Given the description of an element on the screen output the (x, y) to click on. 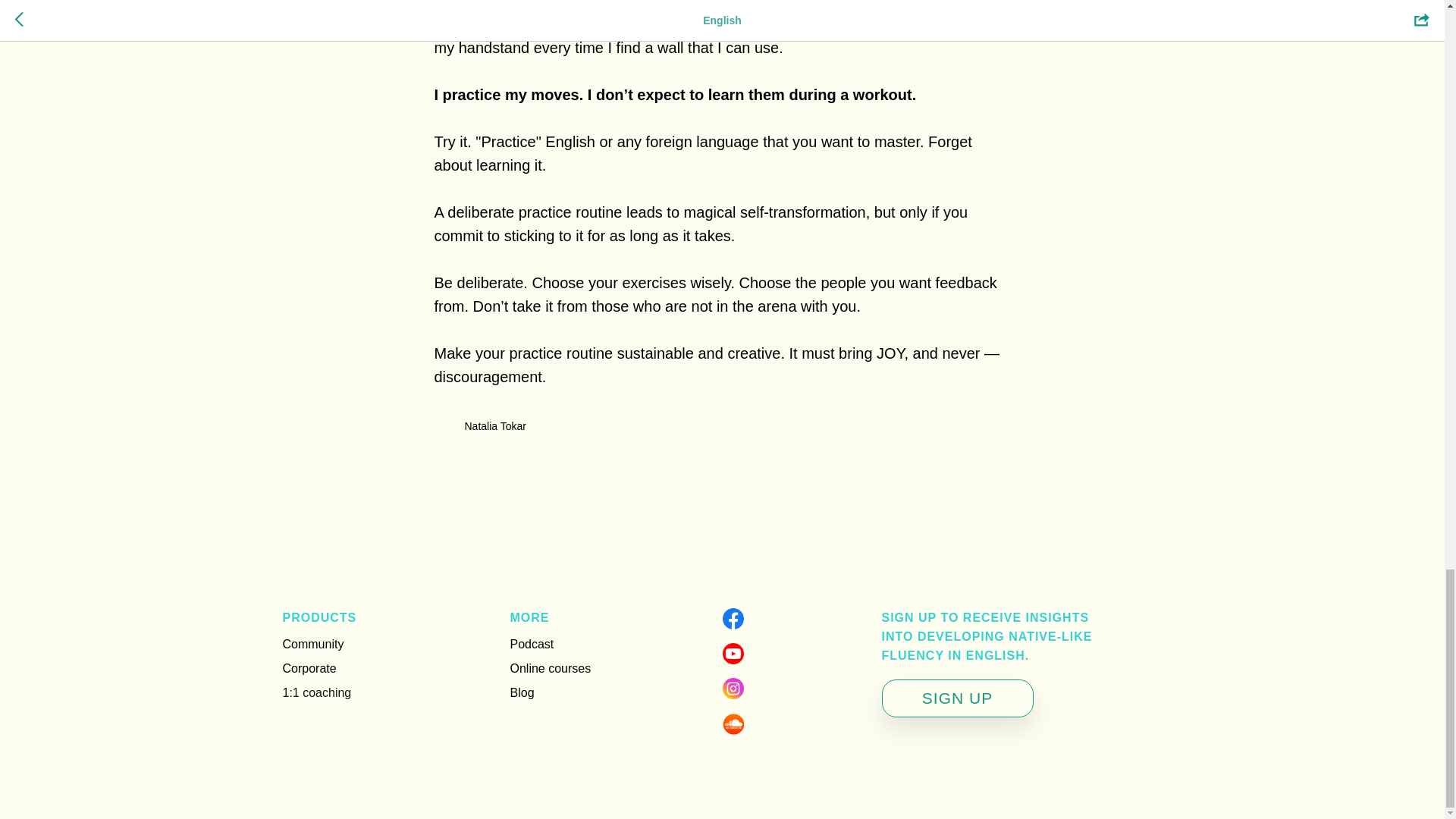
our community of practice (818, 24)
Podcast (531, 644)
Natalia Tokar (721, 426)
Corporate (309, 667)
Community (312, 644)
Blog (521, 692)
Online courses (550, 667)
SIGN UP (956, 698)
